Given the description of an element on the screen output the (x, y) to click on. 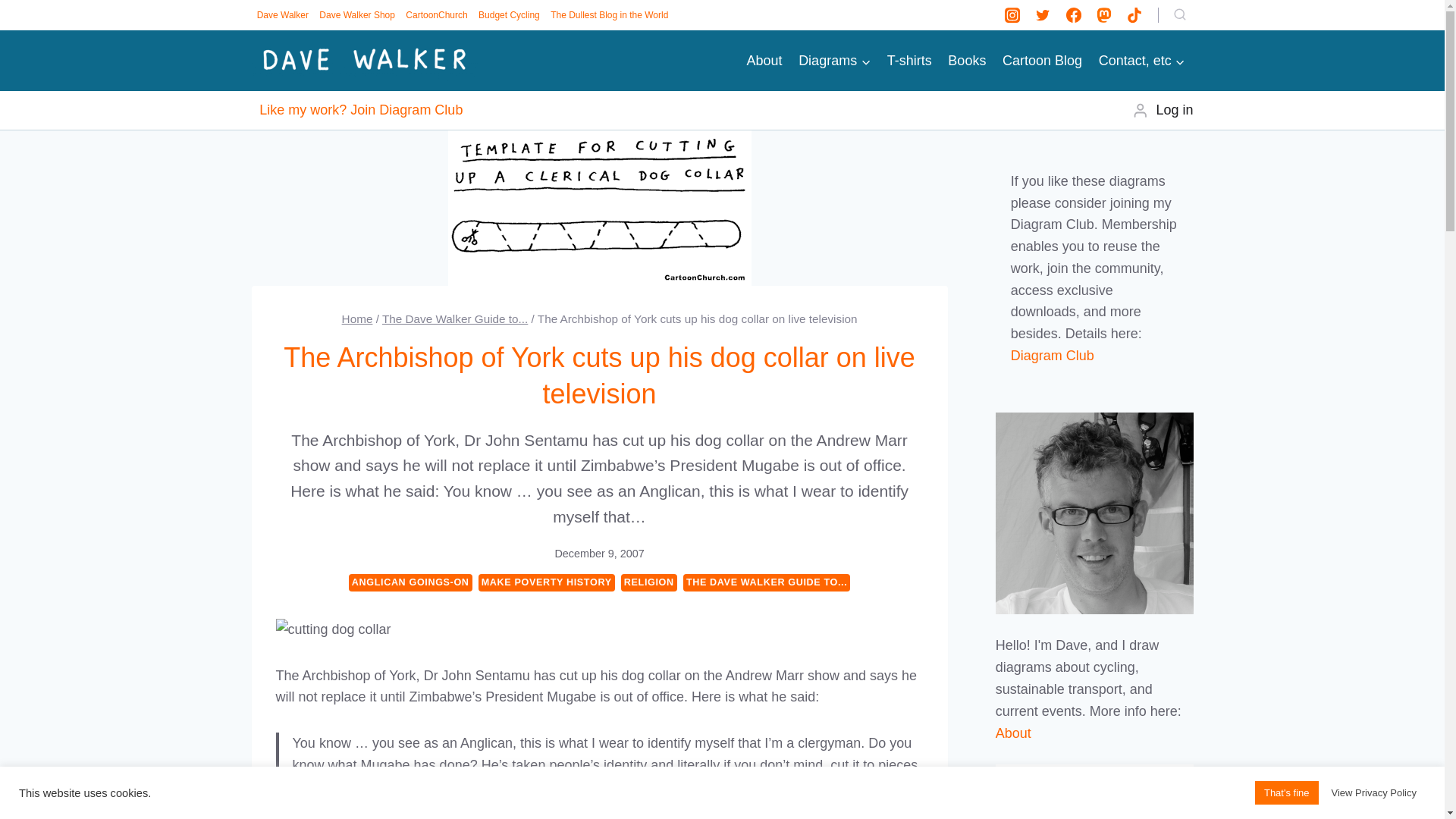
T-shirts (909, 60)
About (764, 60)
Dave Walker (282, 14)
CartoonChurch (436, 14)
Budget Cycling (508, 14)
Dave Walker Shop (357, 14)
Contact, etc (1141, 60)
The Dullest Blog in the World (609, 14)
Diagrams (834, 60)
Books (967, 60)
Cartoon Blog (1042, 60)
